Given the description of an element on the screen output the (x, y) to click on. 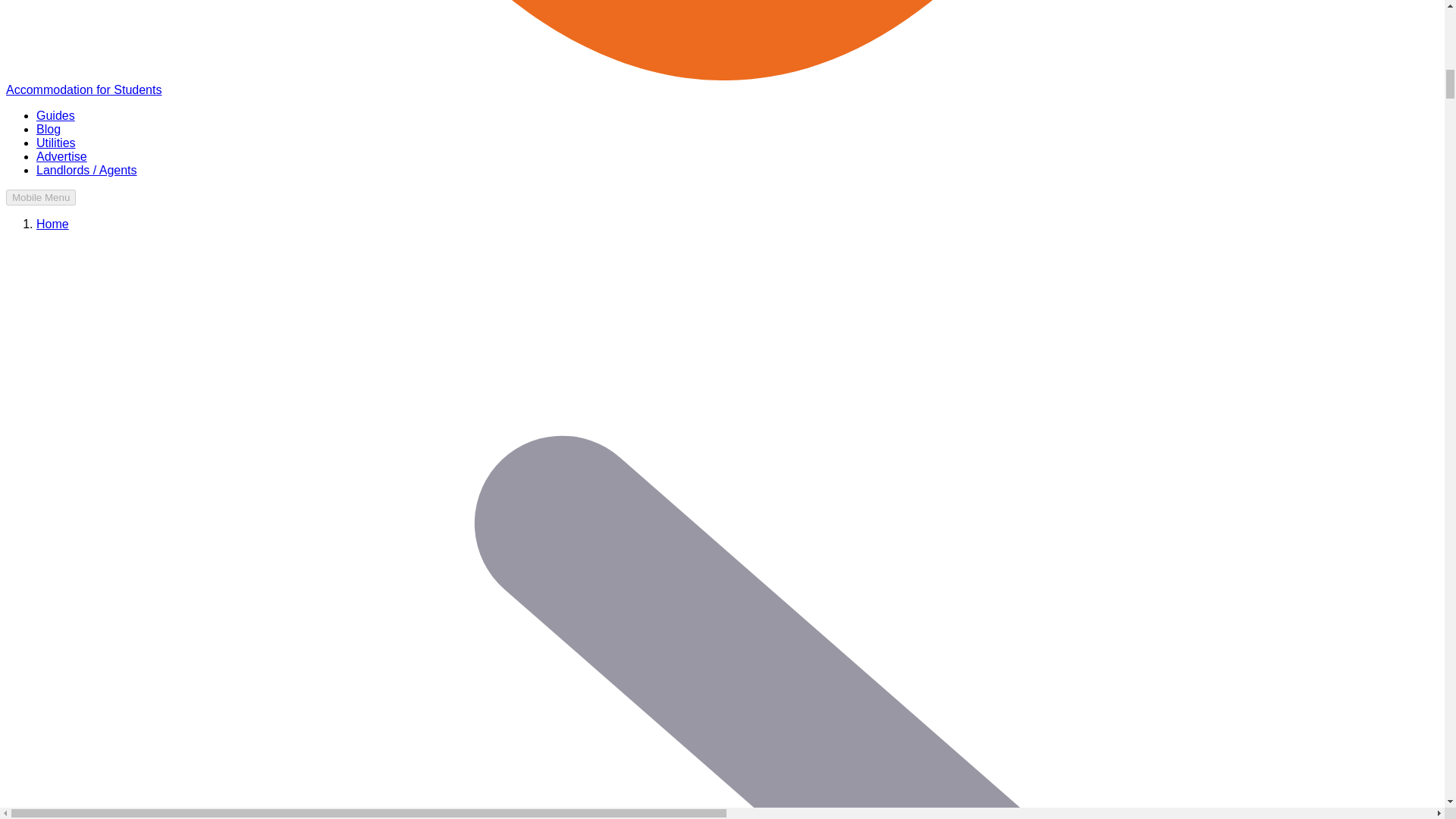
Advertise (61, 155)
Home (52, 223)
Blog (48, 128)
Guides (55, 115)
Mobile Menu (40, 197)
Utilities (55, 142)
